Given the description of an element on the screen output the (x, y) to click on. 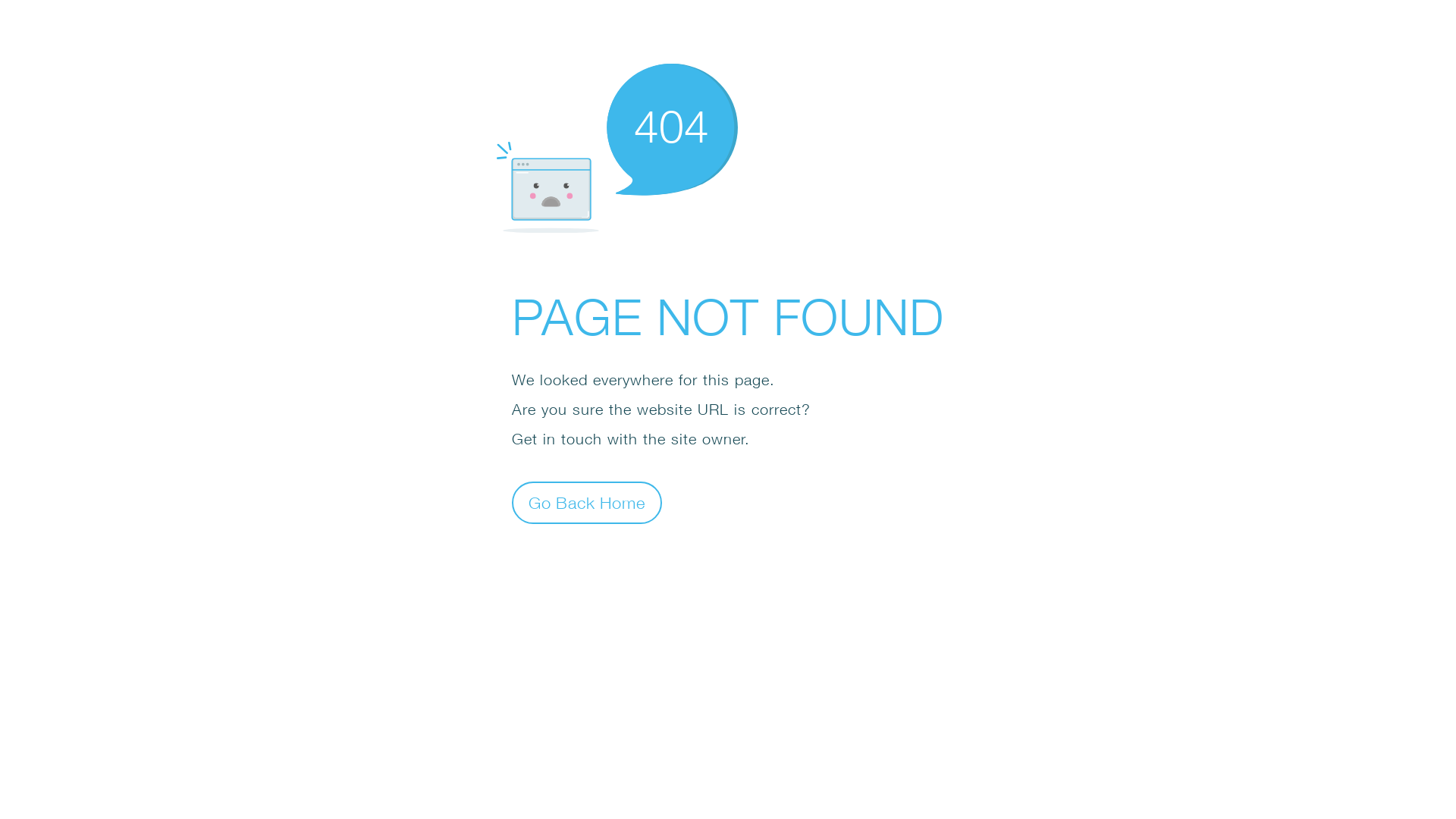
Go Back Home Element type: text (586, 502)
